Given the description of an element on the screen output the (x, y) to click on. 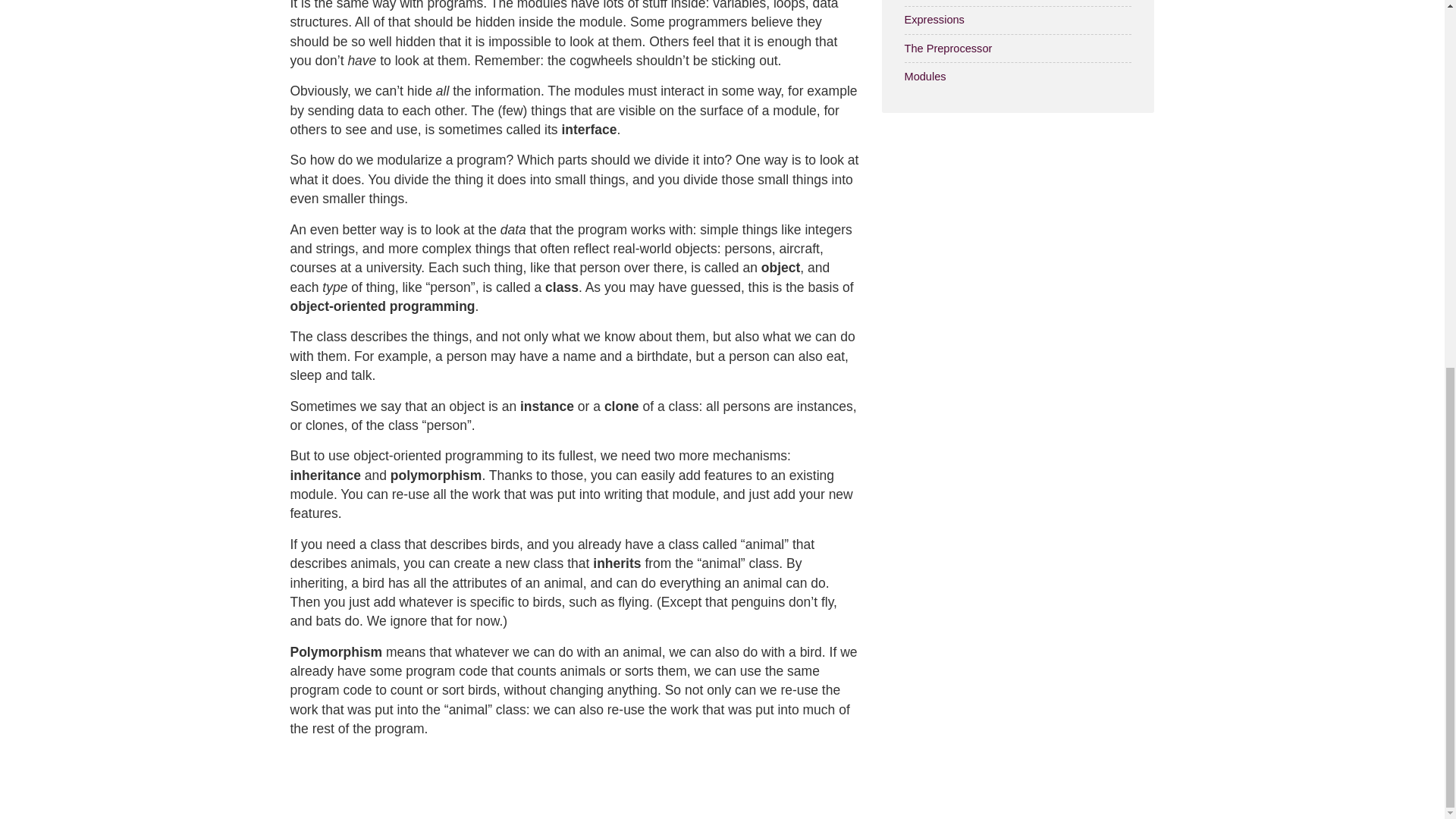
Working with Strings (1017, 2)
Modules (1017, 76)
The Preprocessor (1017, 48)
Expressions (1017, 20)
